Given the description of an element on the screen output the (x, y) to click on. 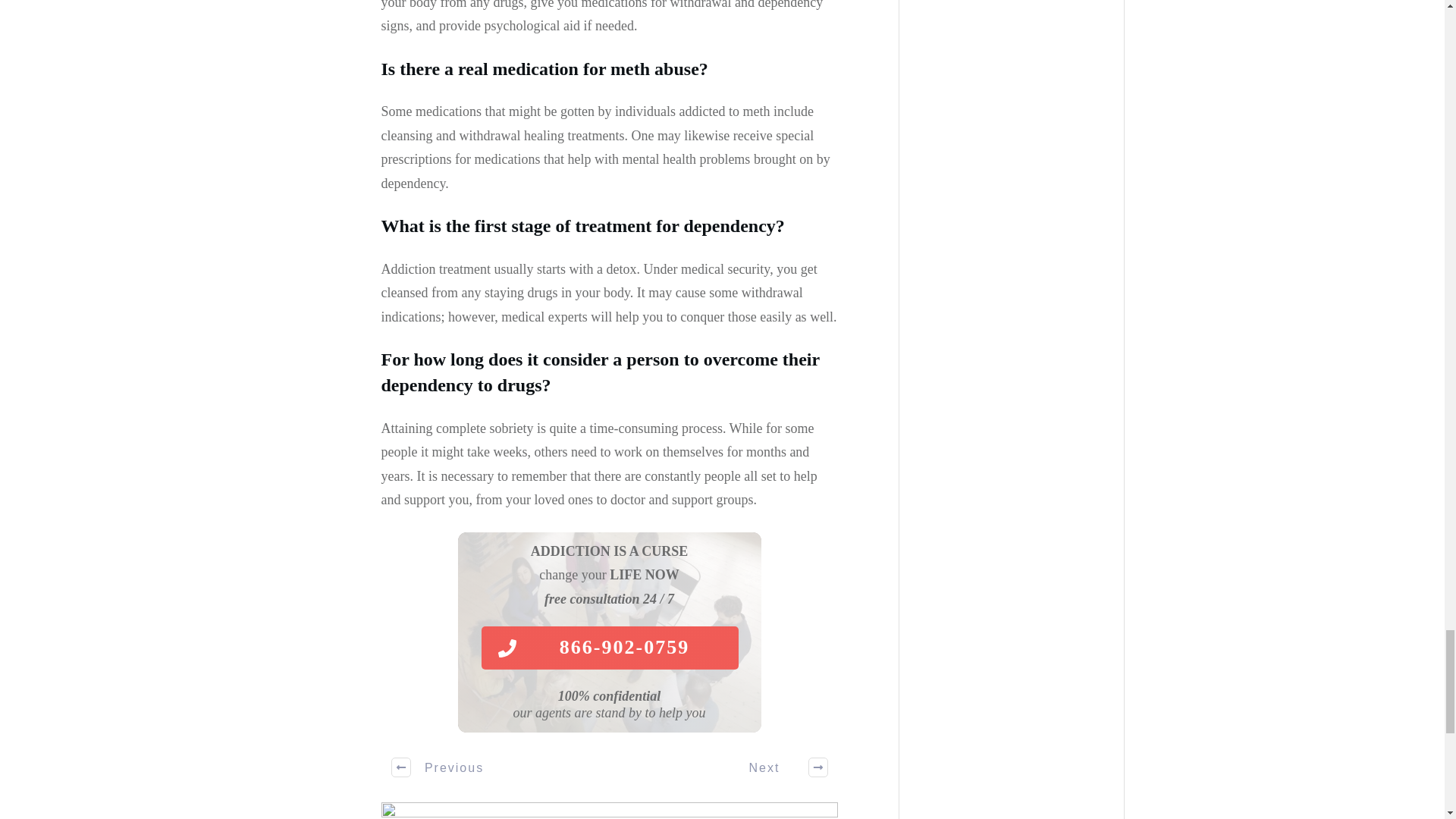
Previous (438, 767)
866-902-0759 (609, 647)
Meth Addiction Treatment in Taylorsville, UT (608, 810)
Next (780, 767)
